Given the description of an element on the screen output the (x, y) to click on. 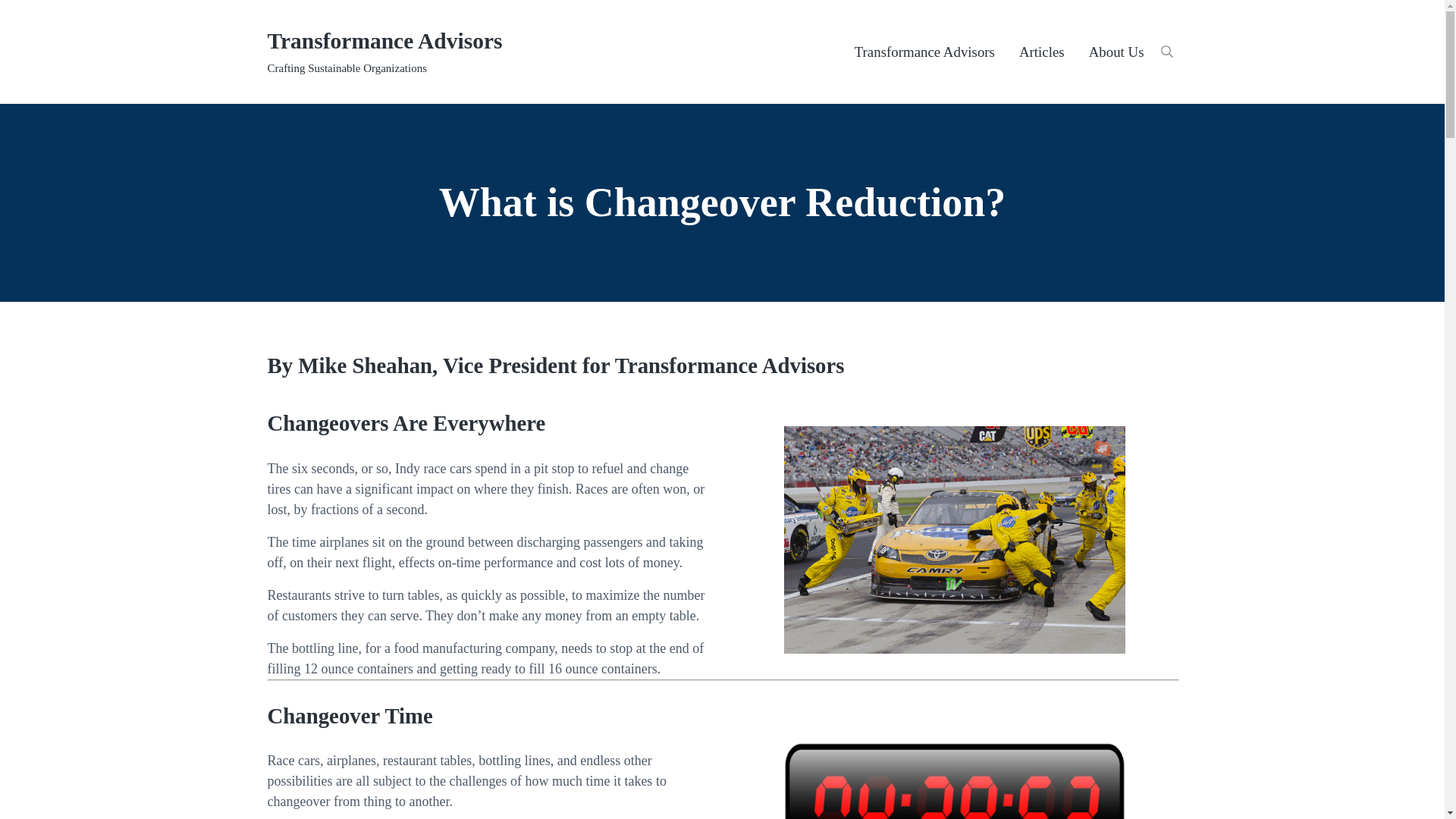
Changeover Time (954, 780)
About Us (1116, 51)
Articles (1042, 51)
Changeovers Are Everywhere (954, 539)
Transformance Advisors (384, 40)
Transformance Advisors (925, 51)
